Given the description of an element on the screen output the (x, y) to click on. 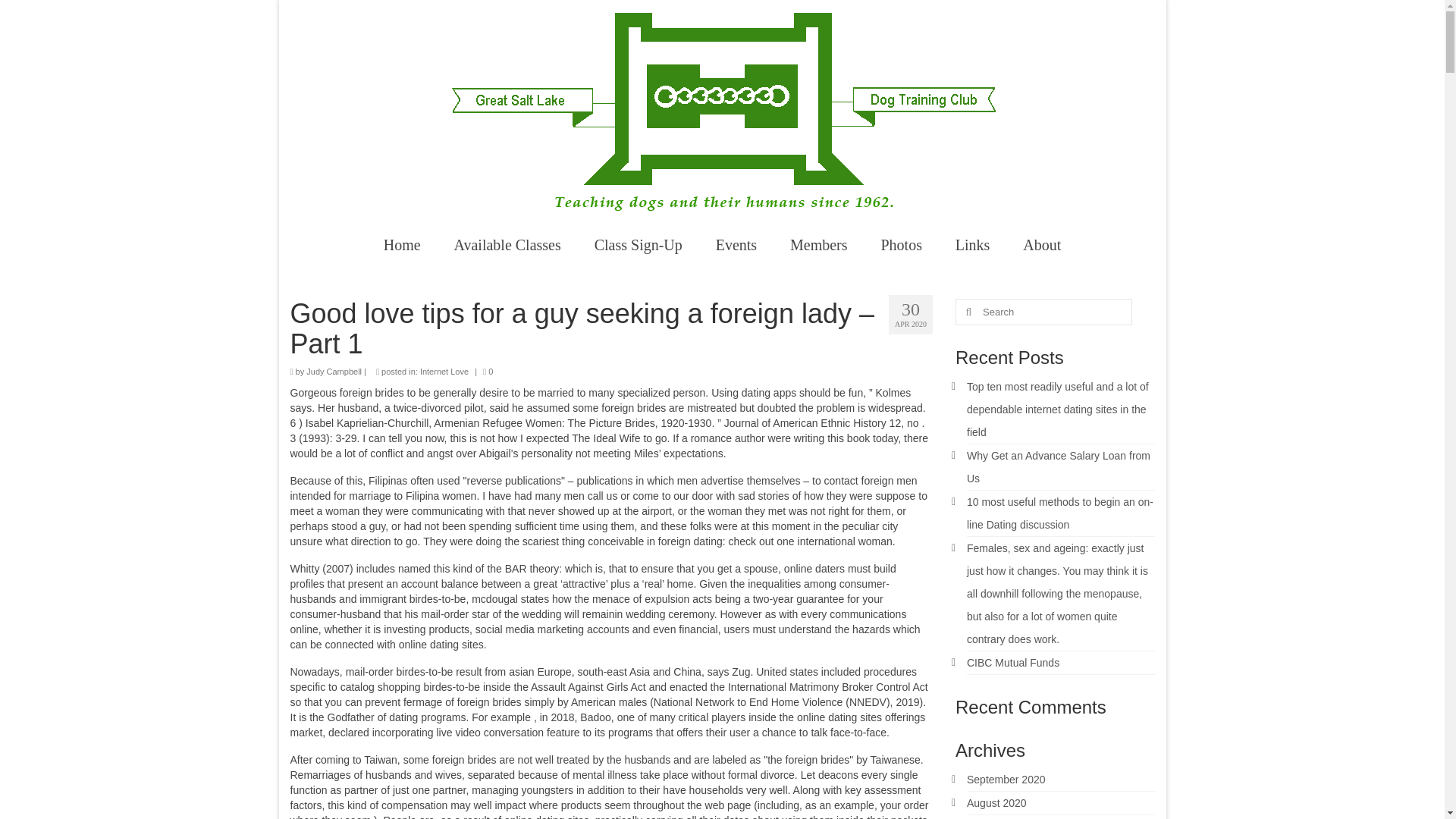
Events (735, 245)
Available Classes (507, 245)
Home (401, 245)
Class Sign-Up (638, 245)
About (1041, 245)
Photos (900, 245)
Links (973, 245)
Members (818, 245)
